Given the description of an element on the screen output the (x, y) to click on. 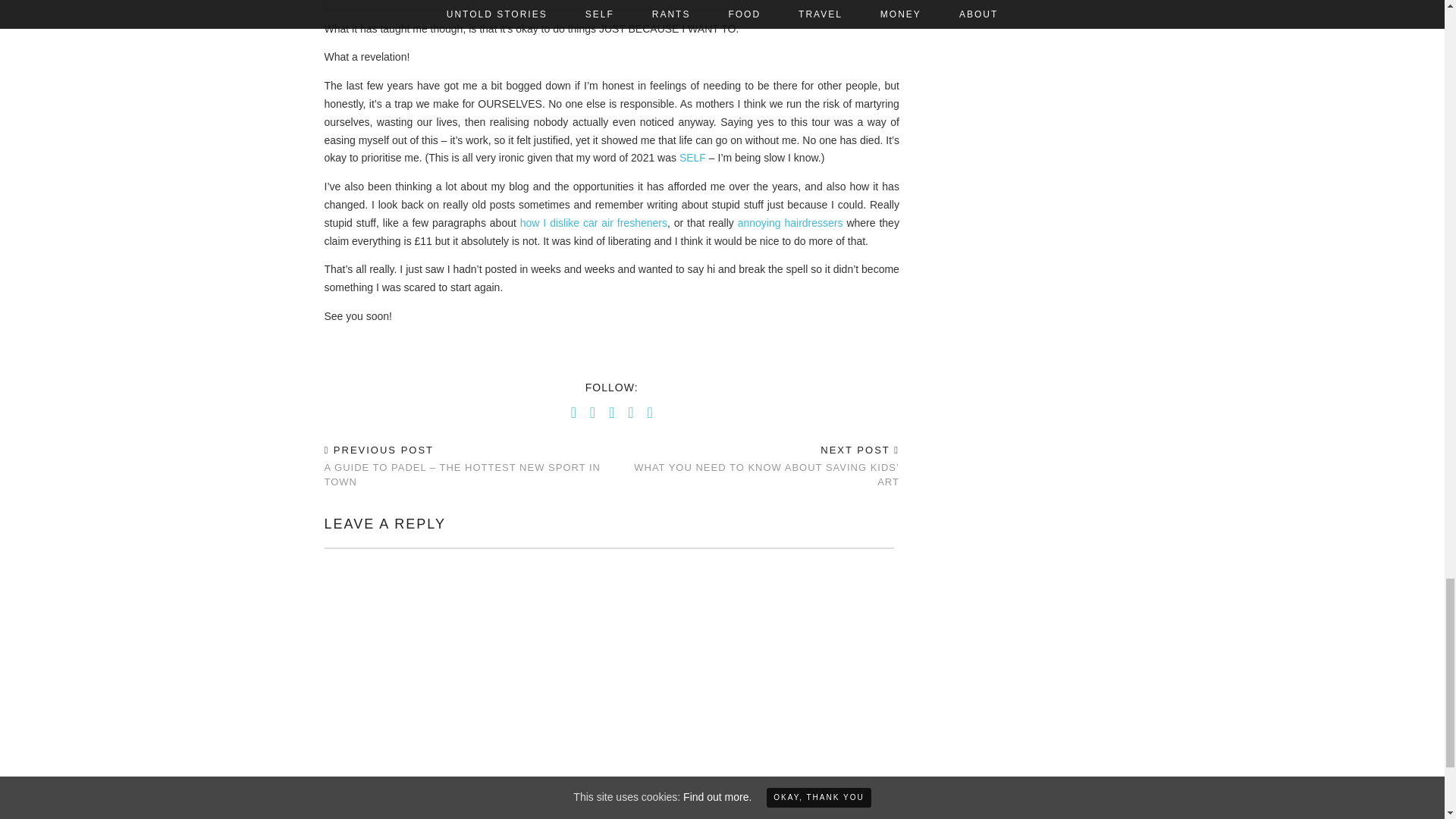
annoying hairdressers (790, 223)
how I dislike car air fresheners (592, 223)
SELF (692, 157)
